Given the description of an element on the screen output the (x, y) to click on. 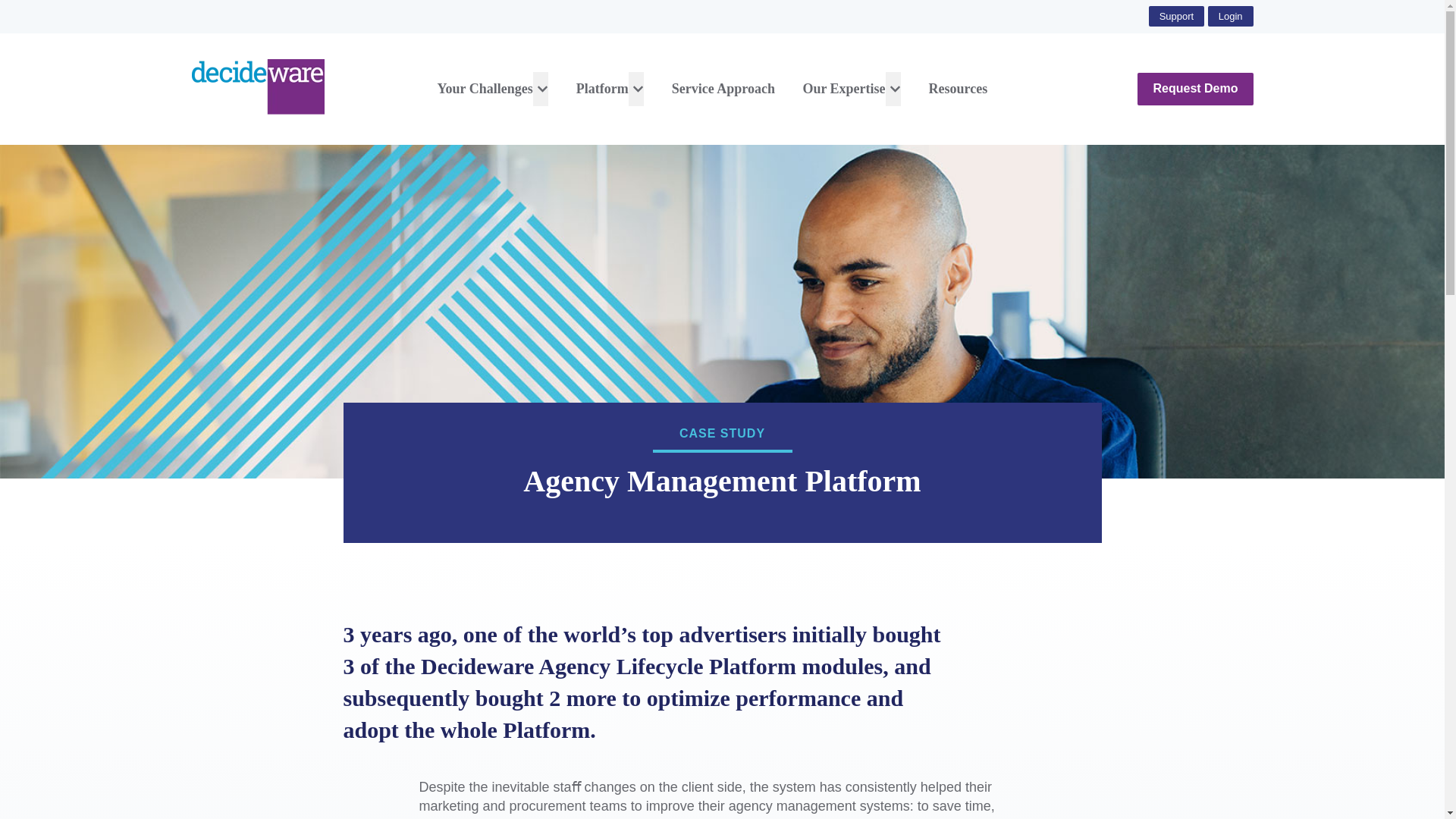
Our Expertise (843, 89)
Service Approach (722, 89)
Your Challenges (484, 89)
Login (1230, 15)
Platform (602, 89)
Resources (958, 89)
Support (1176, 15)
